Given the description of an element on the screen output the (x, y) to click on. 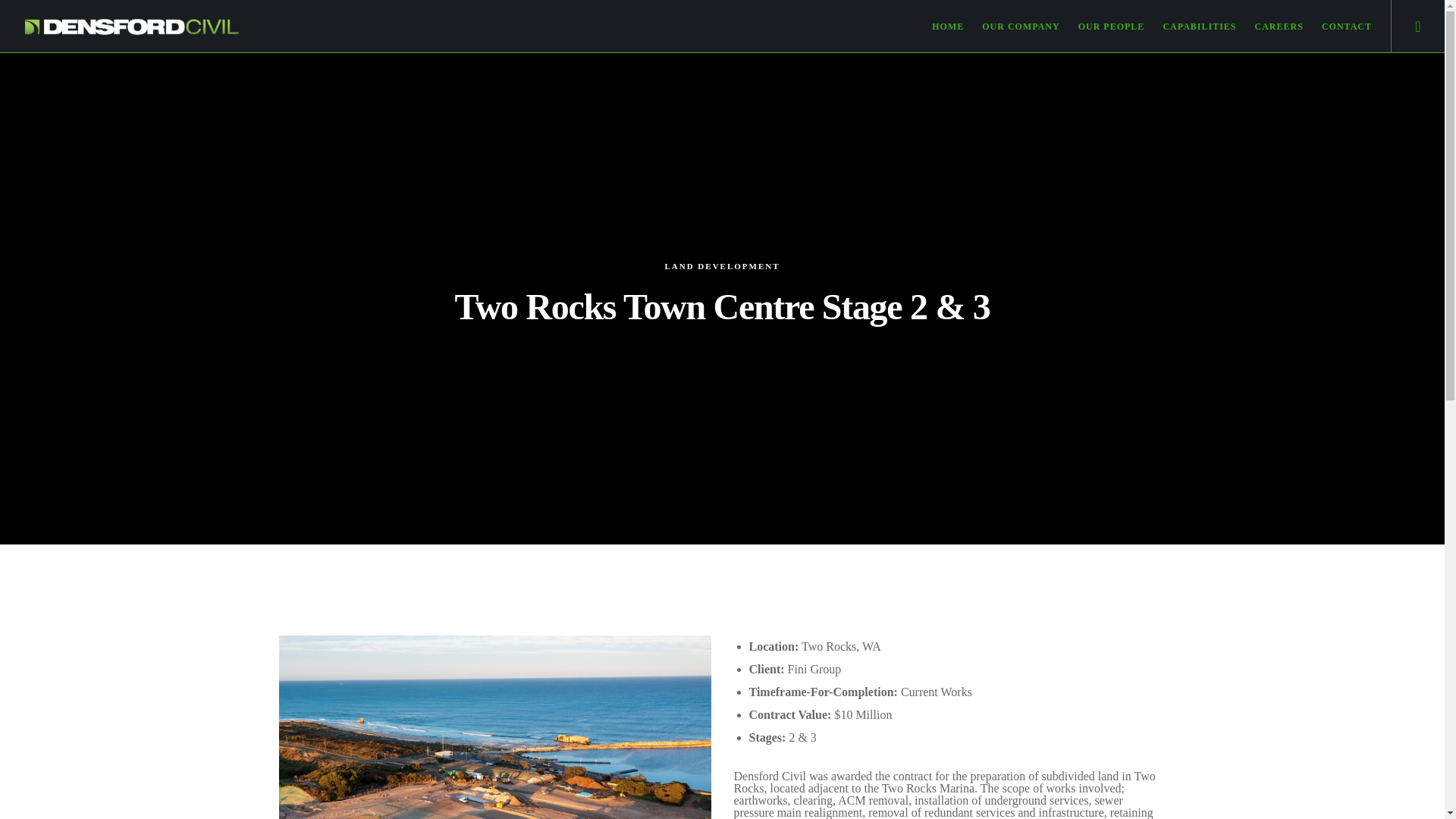
CAPABILITIES (1190, 26)
CONTACT (1337, 26)
CAREERS (1269, 26)
HOME (938, 26)
OUR COMPANY (1011, 26)
OUR PEOPLE (1101, 26)
LAND DEVELOPMENT (720, 265)
